Given the description of an element on the screen output the (x, y) to click on. 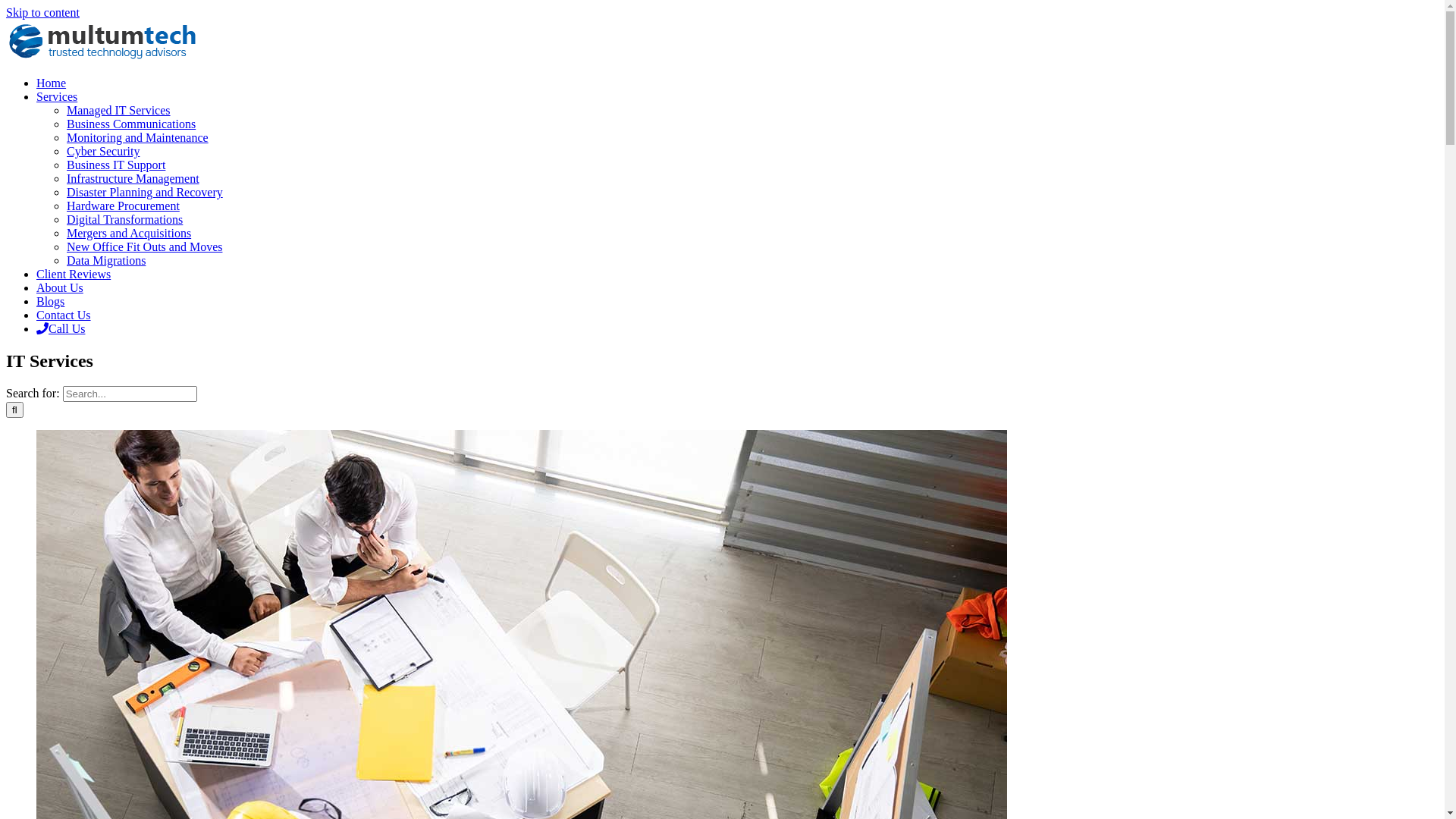
Infrastructure Management Element type: text (132, 178)
Cyber Security Element type: text (102, 150)
Home Element type: text (50, 82)
Blogs Element type: text (50, 300)
Skip to content Element type: text (42, 12)
Business IT Support Element type: text (115, 164)
New Office Fit Outs and Moves Element type: text (144, 246)
Call Us Element type: text (60, 328)
Disaster Planning and Recovery Element type: text (144, 191)
Contact Us Element type: text (63, 314)
About Us Element type: text (59, 287)
Digital Transformations Element type: text (124, 219)
Monitoring and Maintenance Element type: text (137, 137)
Hardware Procurement Element type: text (122, 205)
Business Communications Element type: text (130, 123)
Client Reviews Element type: text (73, 273)
Managed IT Services Element type: text (118, 109)
Data Migrations Element type: text (105, 260)
Mergers and Acquisitions Element type: text (128, 232)
Services Element type: text (56, 96)
